Given the description of an element on the screen output the (x, y) to click on. 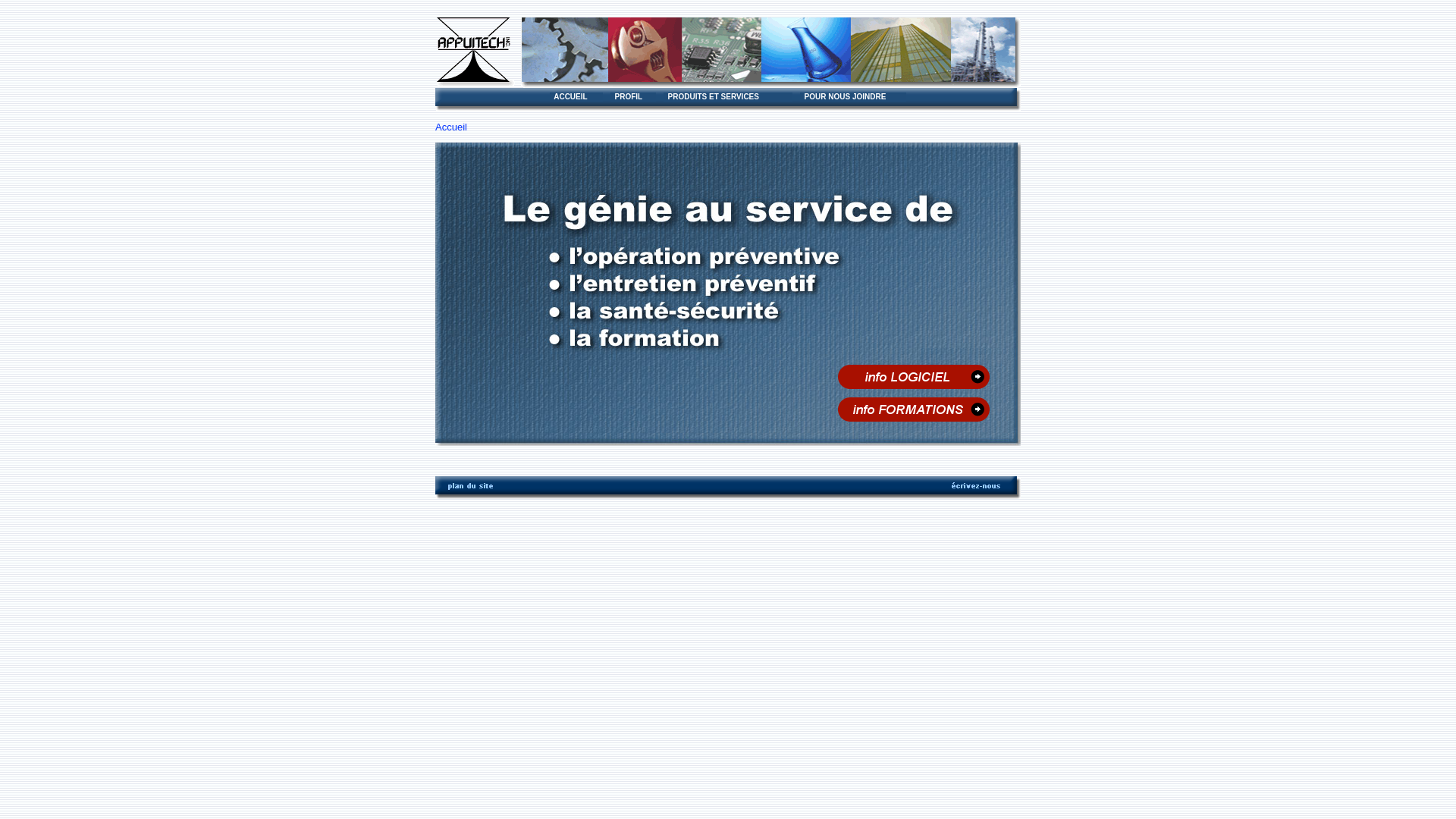
  ACCUEIL Element type: text (575, 96)
  PROFIL Element type: text (632, 96)
  POUR NOUS JOINDRE Element type: text (853, 96)
  PRODUITS ET SERVICES Element type: text (727, 96)
